Given the description of an element on the screen output the (x, y) to click on. 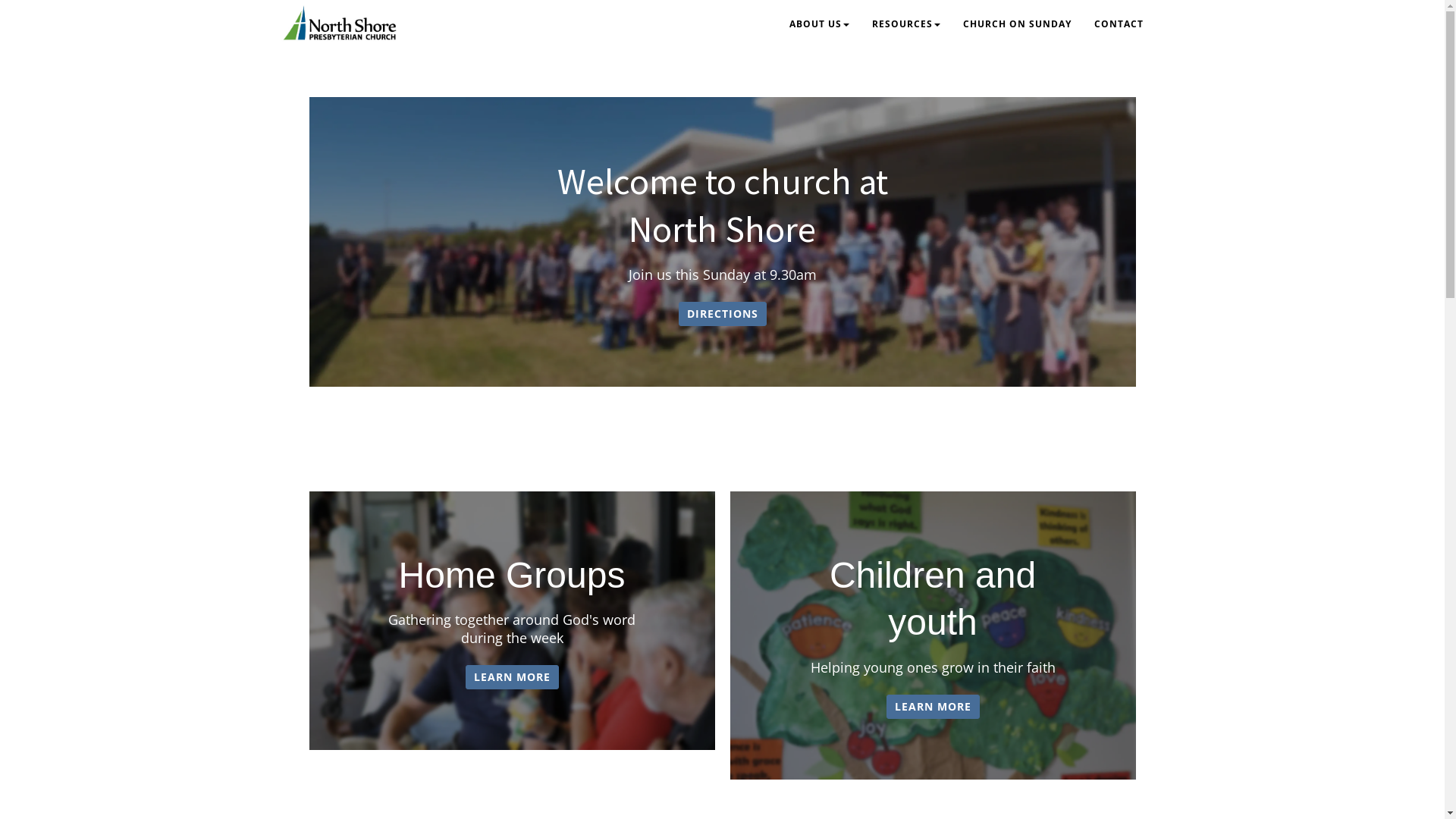
CONTACT Element type: text (1118, 24)
CHURCH ON SUNDAY Element type: text (1016, 24)
ABOUT US Element type: text (819, 24)
RESOURCES Element type: text (905, 24)
LEARN MORE Element type: text (511, 677)
DIRECTIONS Element type: text (721, 313)
LEARN MORE Element type: text (932, 706)
